Given the description of an element on the screen output the (x, y) to click on. 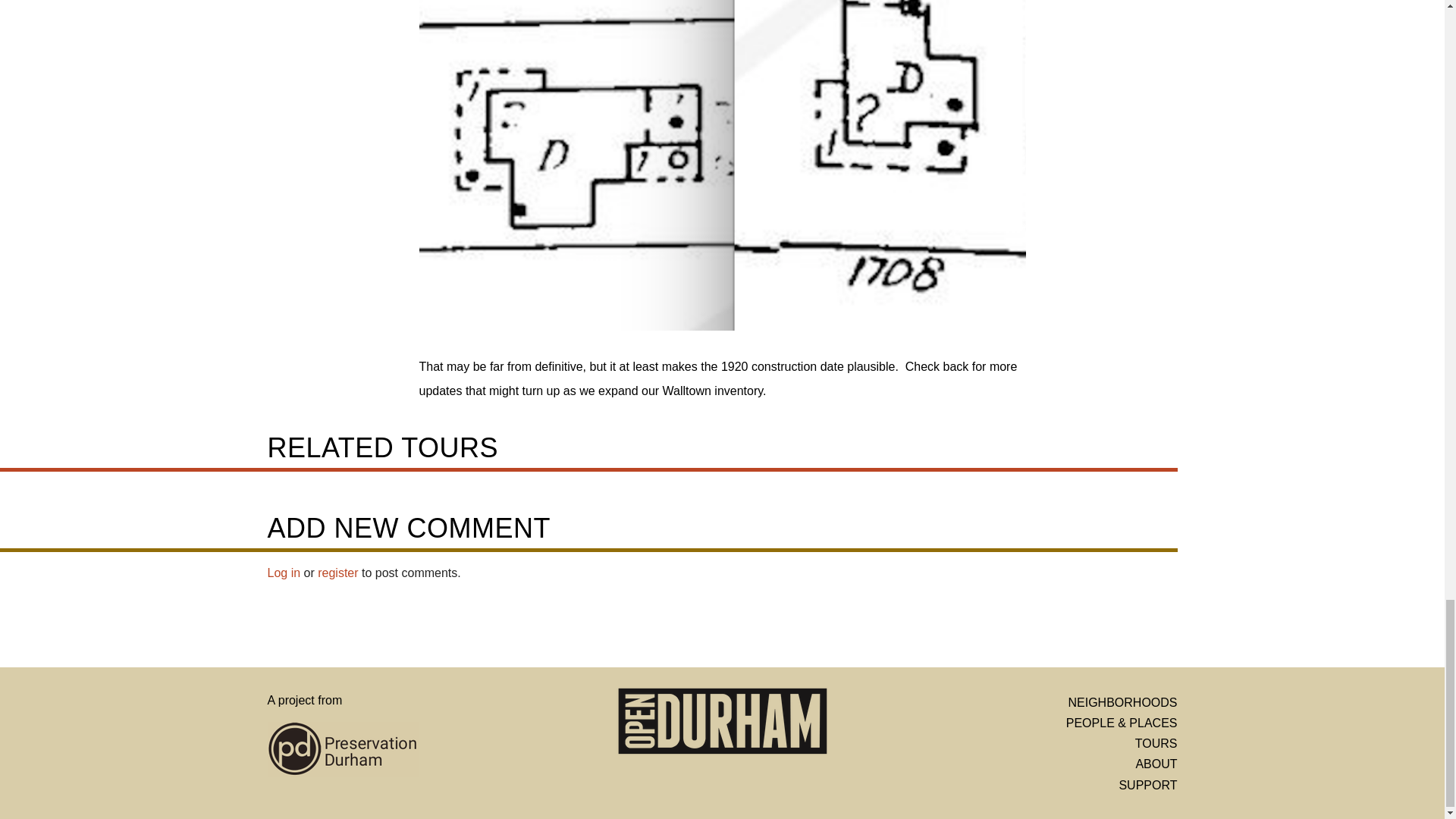
About (1155, 763)
ABOUT (1155, 763)
TOURS (1156, 743)
register (337, 572)
SUPPORT (1147, 784)
Tours (1156, 743)
Log in (282, 572)
Neighborhoods (1121, 702)
Support (1147, 784)
NEIGHBORHOODS (1121, 702)
